Given the description of an element on the screen output the (x, y) to click on. 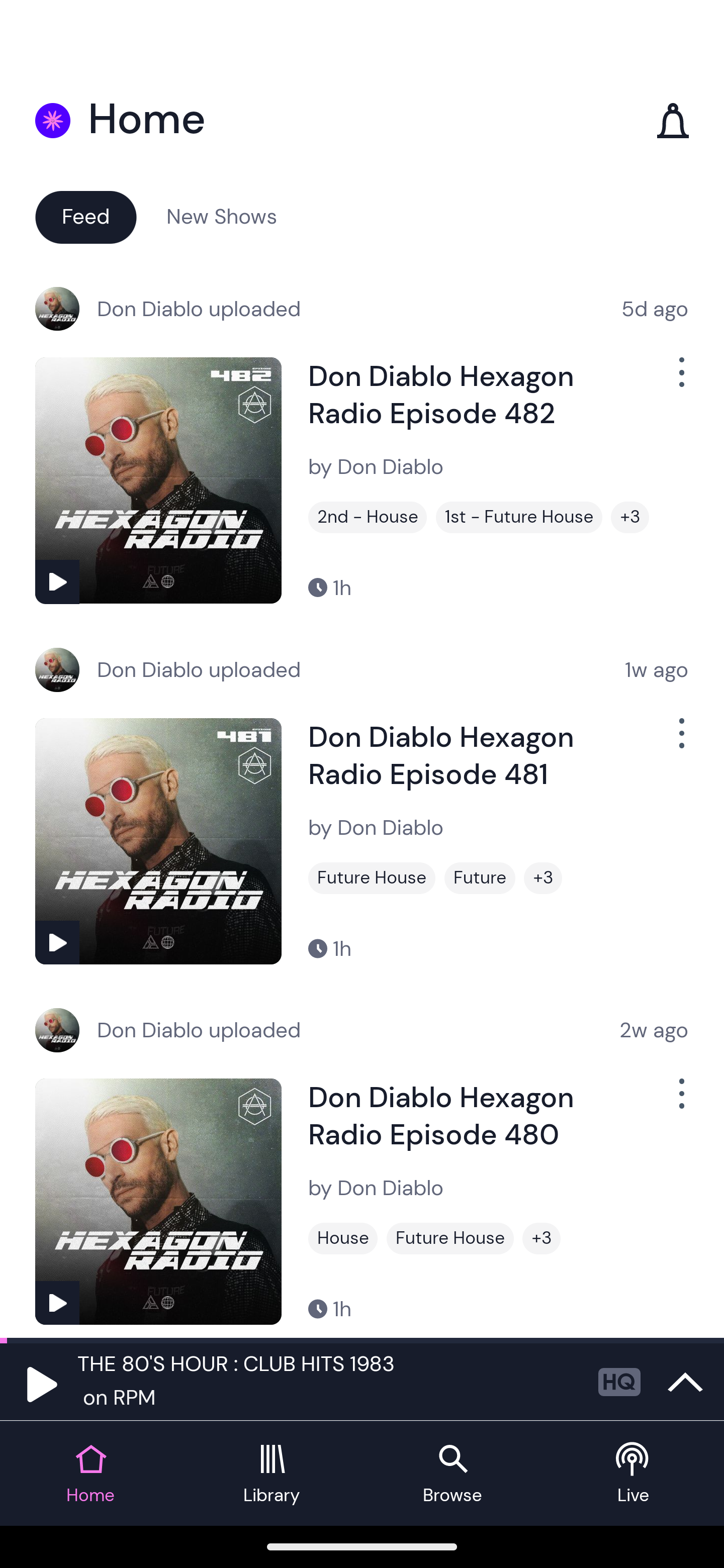
Feed (85, 216)
New Shows (221, 216)
Show Options Menu Button (679, 379)
2nd - House (367, 517)
1st - Future House (518, 517)
Show Options Menu Button (679, 740)
Future House (371, 877)
Future (479, 877)
Show Options Menu Button (679, 1101)
House (342, 1238)
Future House (450, 1238)
Home tab Home (90, 1473)
Library tab Library (271, 1473)
Browse tab Browse (452, 1473)
Live tab Live (633, 1473)
